Given the description of an element on the screen output the (x, y) to click on. 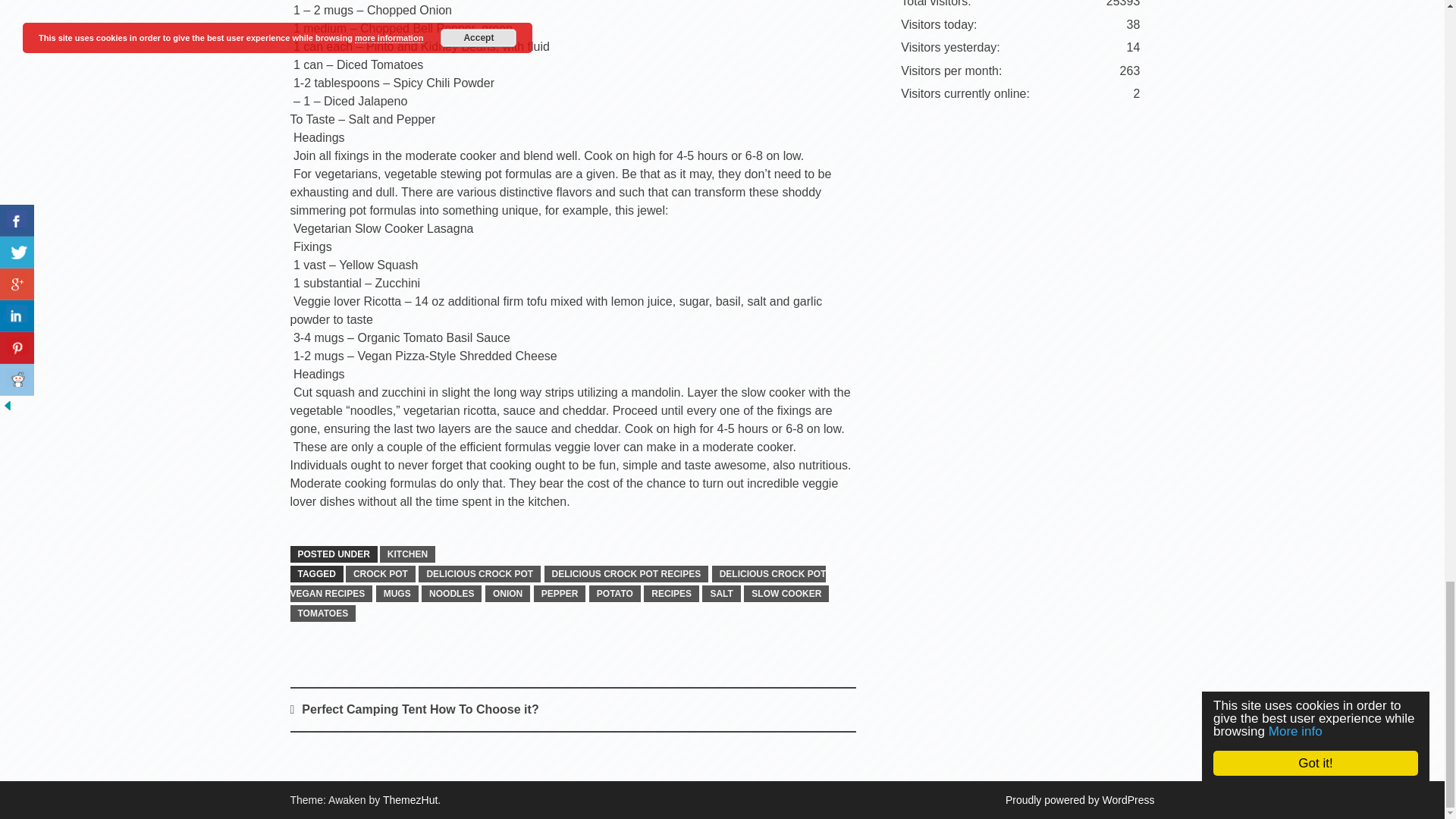
DELICIOUS CROCK POT VEGAN RECIPES (557, 583)
PEPPER (560, 593)
ONION (506, 593)
SALT (720, 593)
KITCHEN (407, 554)
RECIPES (670, 593)
Perfect Camping Tent How To Choose it? (419, 708)
SLOW COOKER (786, 593)
NOODLES (451, 593)
MUGS (397, 593)
CROCK POT (380, 573)
DELICIOUS CROCK POT RECIPES (626, 573)
TOMATOES (322, 613)
DELICIOUS CROCK POT (479, 573)
POTATO (614, 593)
